Given the description of an element on the screen output the (x, y) to click on. 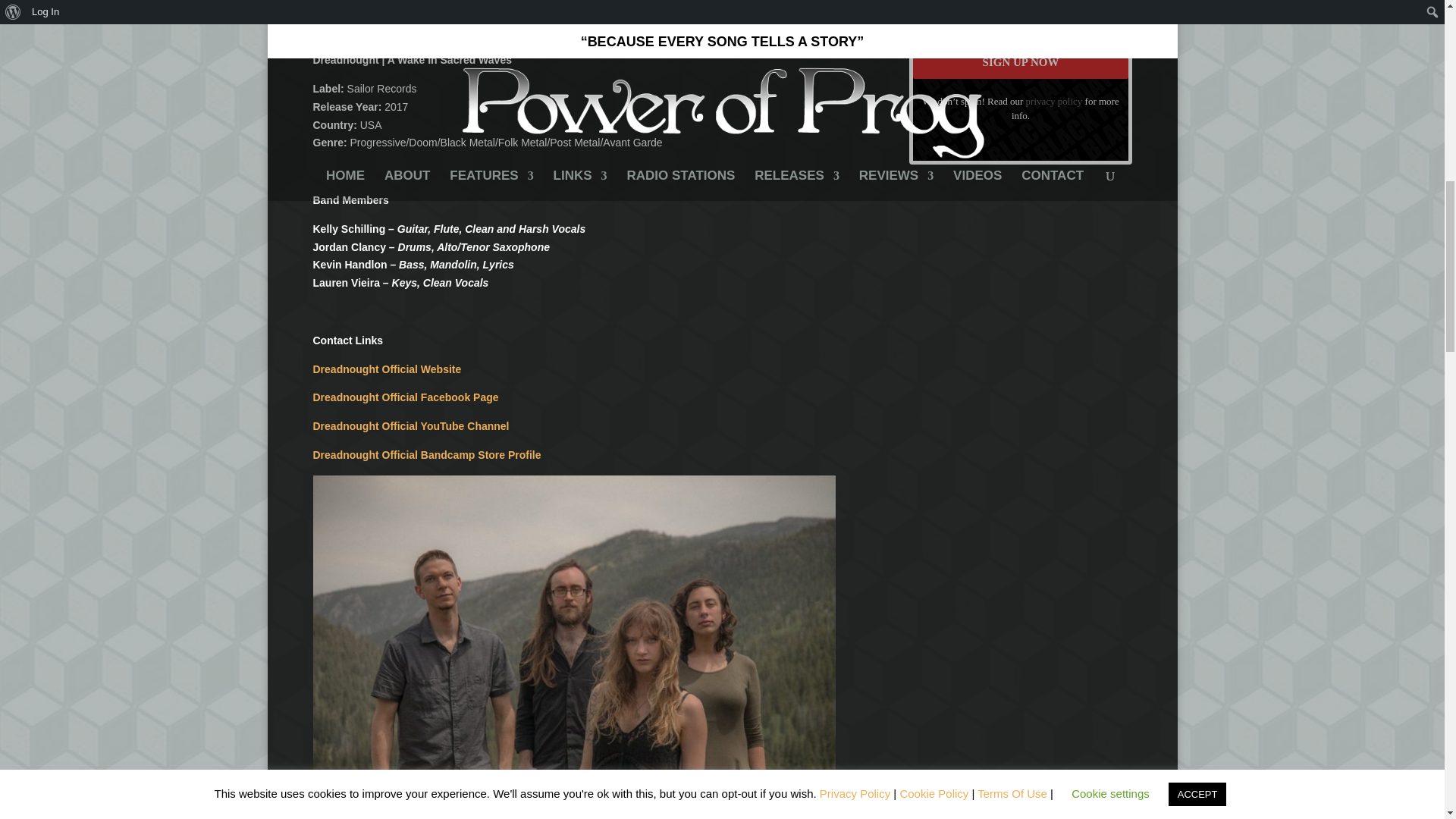
Email Address (1020, 15)
SIGN UP NOW (1020, 61)
